Given the description of an element on the screen output the (x, y) to click on. 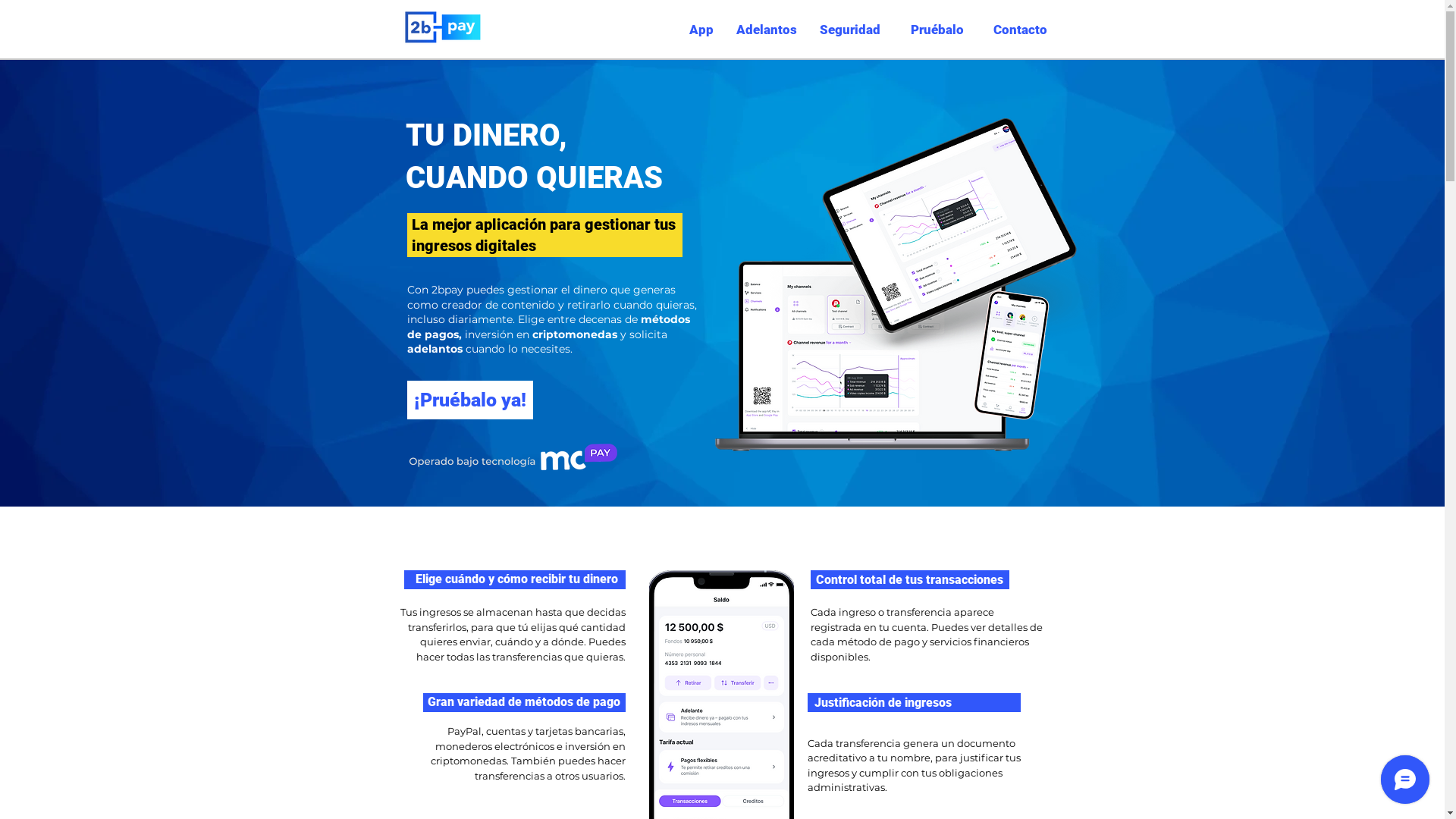
App Element type: text (682, 29)
Seguridad Element type: text (849, 29)
Contacto Element type: text (1016, 29)
Adelantos Element type: text (766, 29)
